Given the description of an element on the screen output the (x, y) to click on. 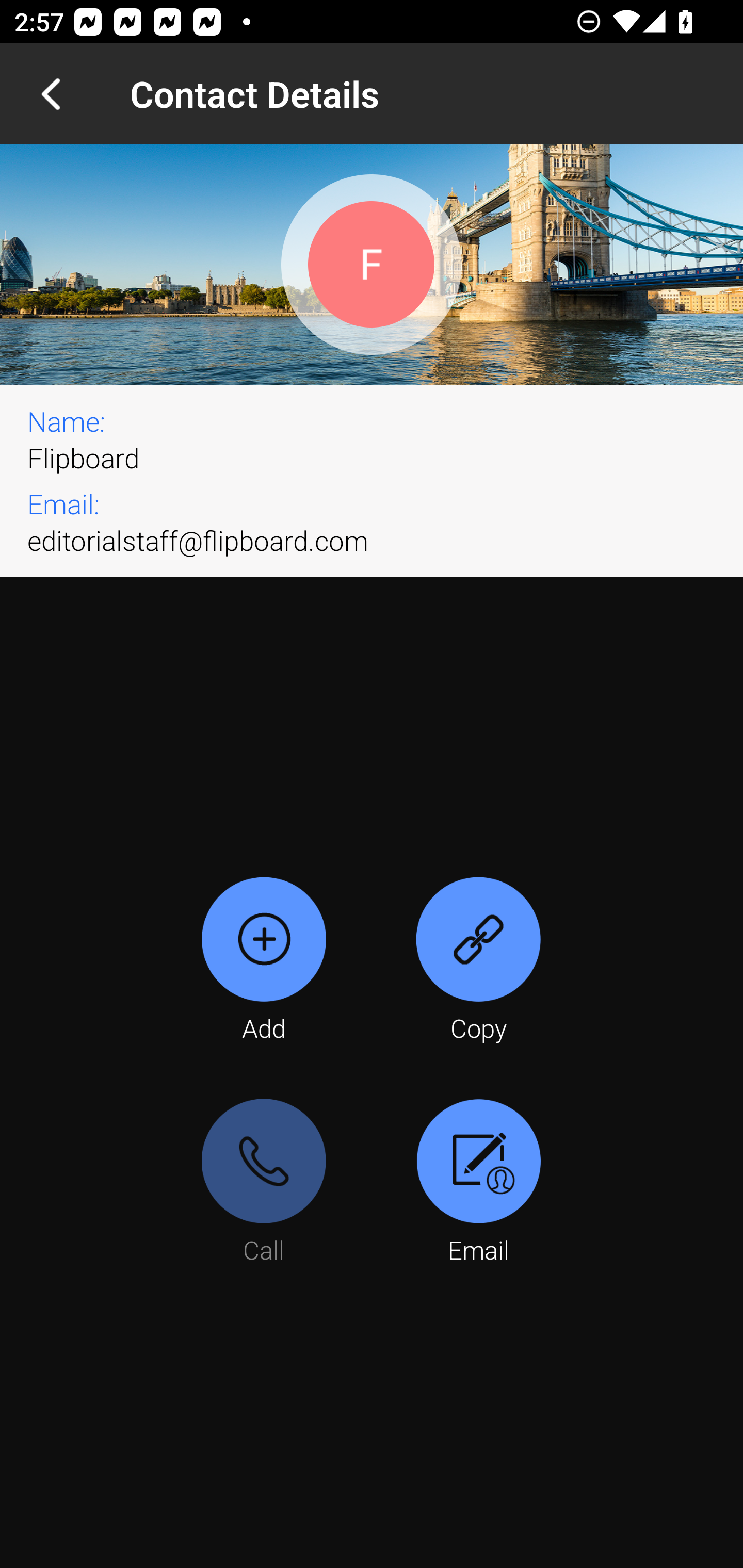
Navigate up (50, 93)
Add (264, 961)
Copy (478, 961)
Call (264, 1182)
Email (478, 1182)
